Given the description of an element on the screen output the (x, y) to click on. 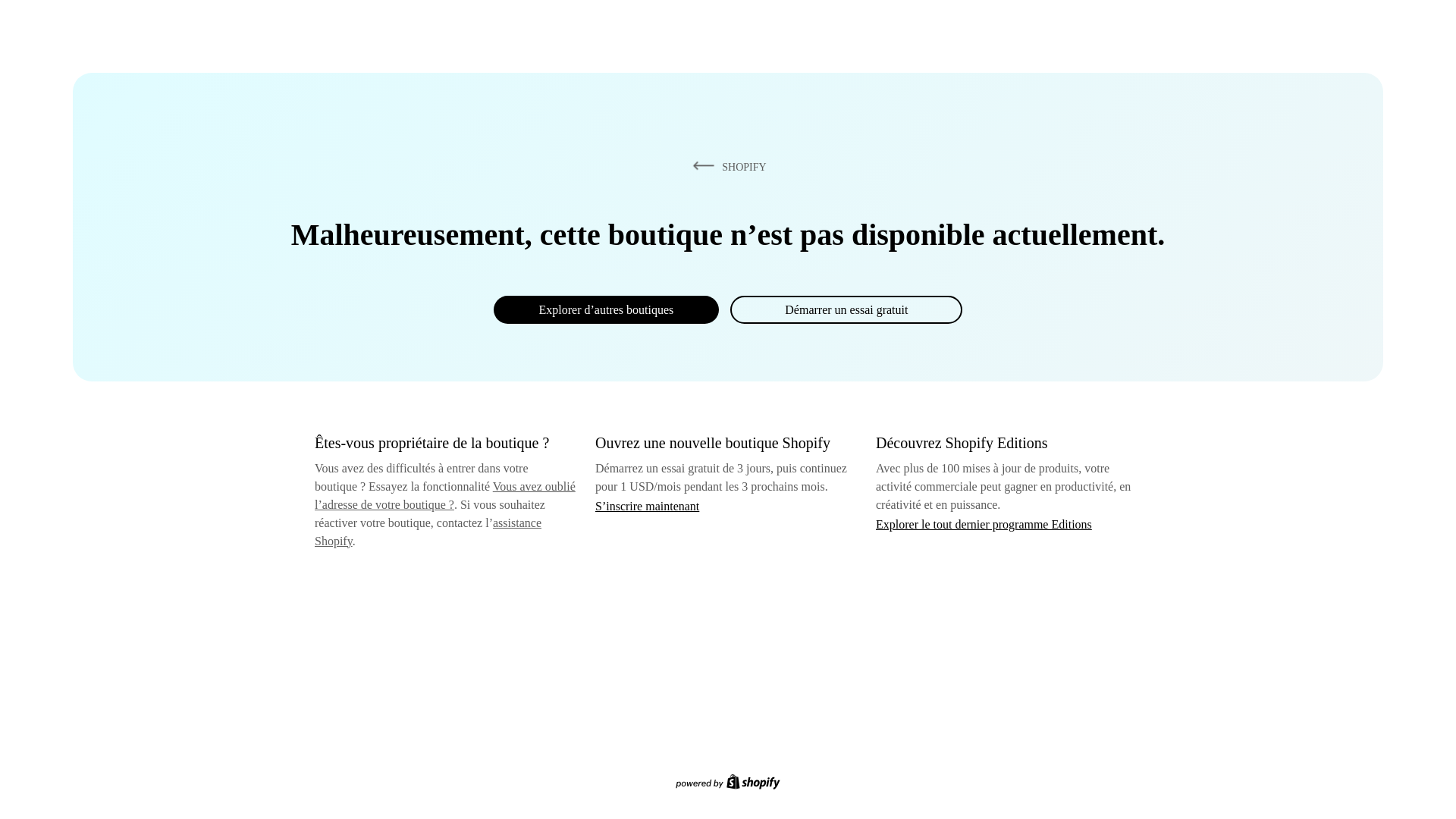
SHOPIFY (726, 166)
assistance Shopify (427, 531)
Explorer le tout dernier programme Editions (984, 523)
